Given the description of an element on the screen output the (x, y) to click on. 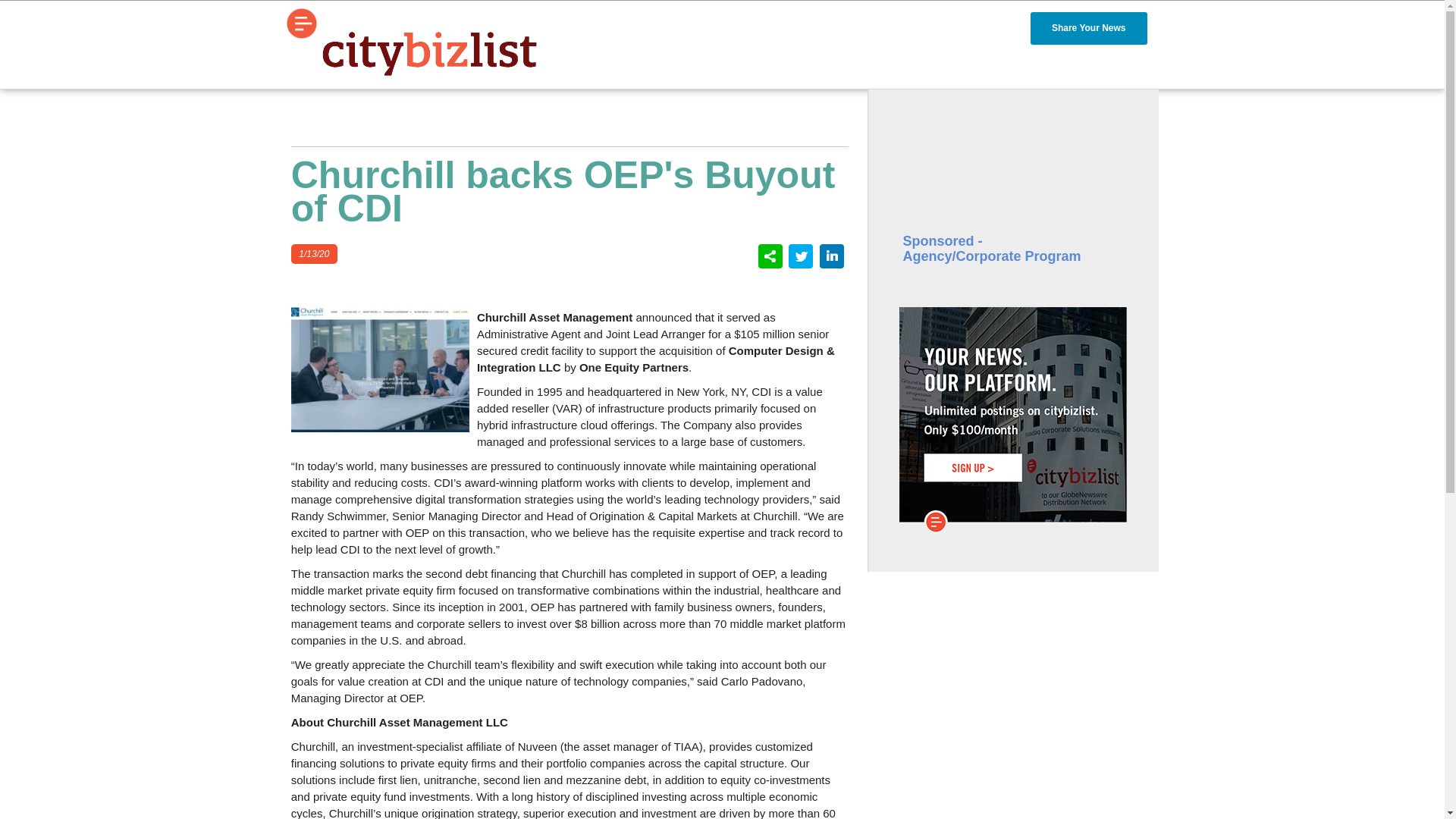
Share Your News (1088, 28)
